Given the description of an element on the screen output the (x, y) to click on. 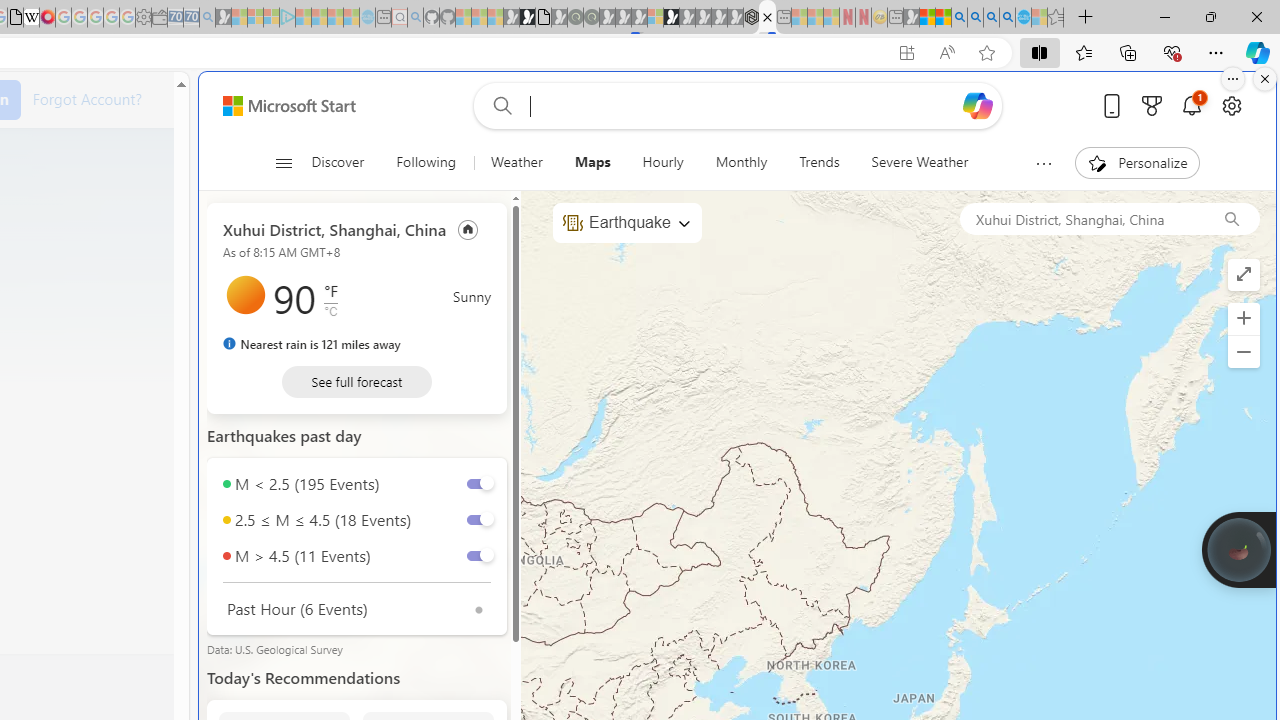
Open Copilot (977, 105)
Play Zoo Boom in your browser | Games from Microsoft Start (527, 17)
Restore (1210, 16)
Xuhui District, Shanghai, China (334, 228)
Favorites - Sleeping (1055, 17)
Browser essentials (1171, 52)
See full forecast (356, 381)
